Given the description of an element on the screen output the (x, y) to click on. 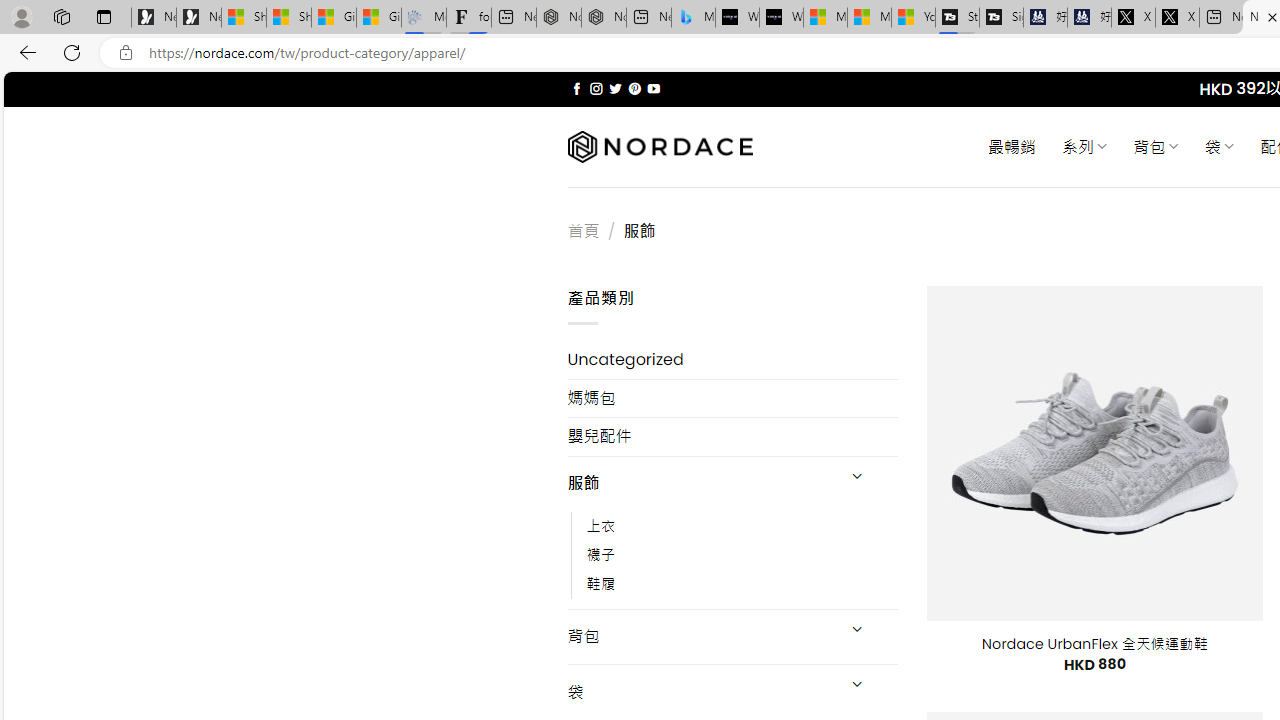
Follow on Instagram (596, 88)
